Given the description of an element on the screen output the (x, y) to click on. 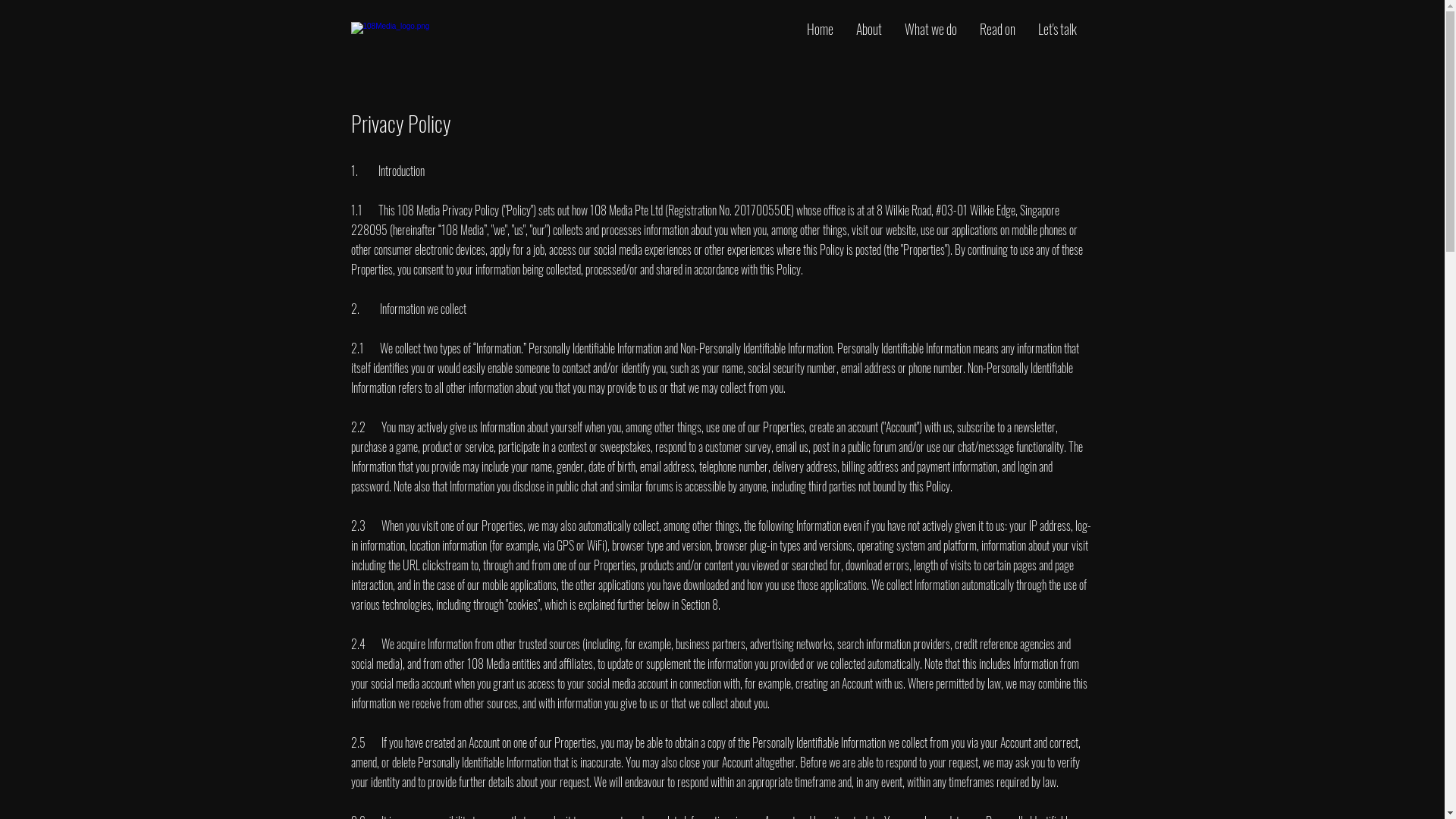
About Element type: text (868, 28)
Home Element type: text (819, 28)
Let's talk Element type: text (1057, 28)
Read on Element type: text (996, 28)
